Given the description of an element on the screen output the (x, y) to click on. 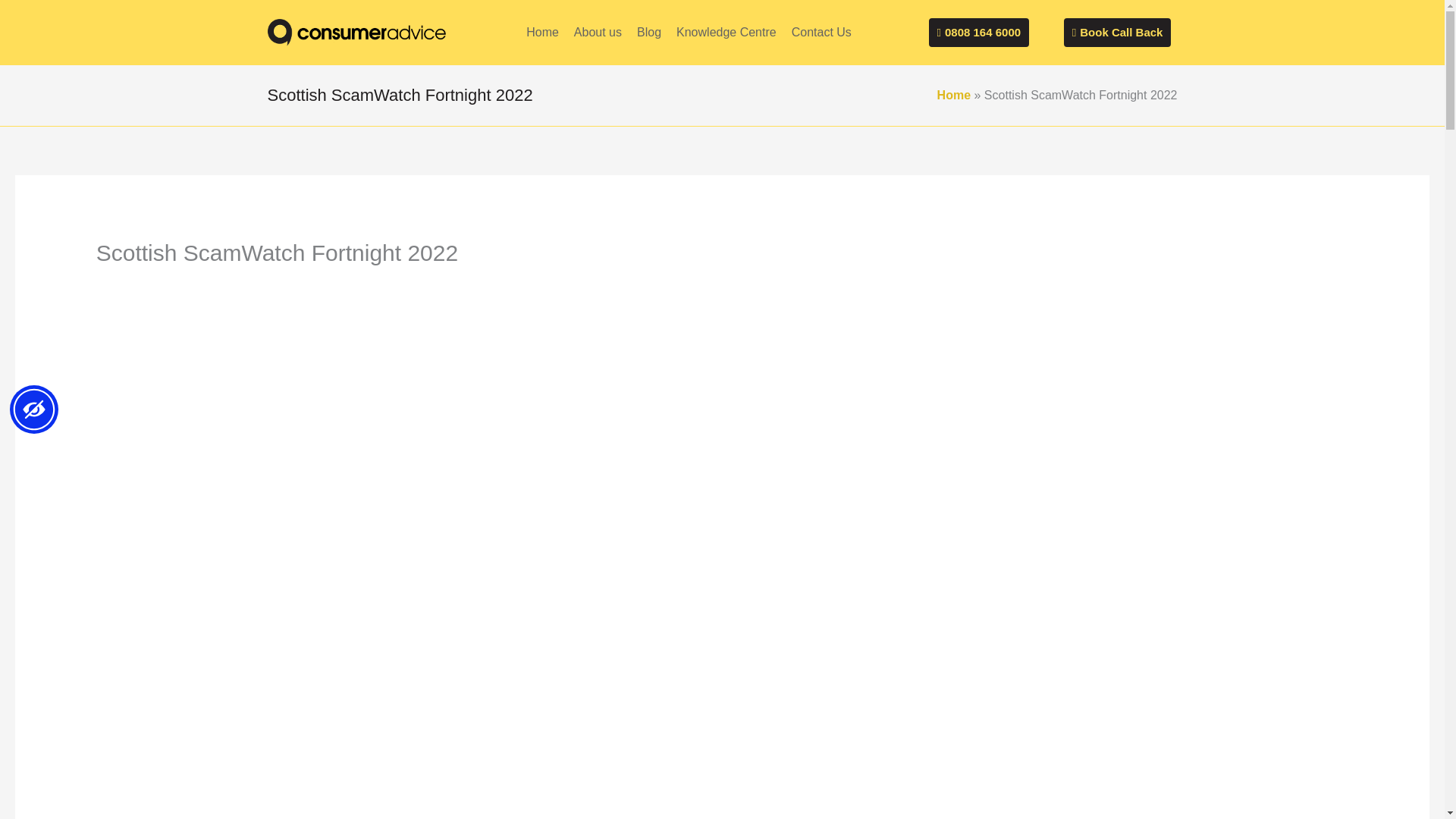
0808 164 6000 (978, 32)
Accessibility Menu (34, 409)
Knowledge Centre (726, 32)
Book Call Back (1118, 32)
Blog (648, 32)
Home (542, 32)
Contact Us (821, 32)
About us (597, 32)
